Given the description of an element on the screen output the (x, y) to click on. 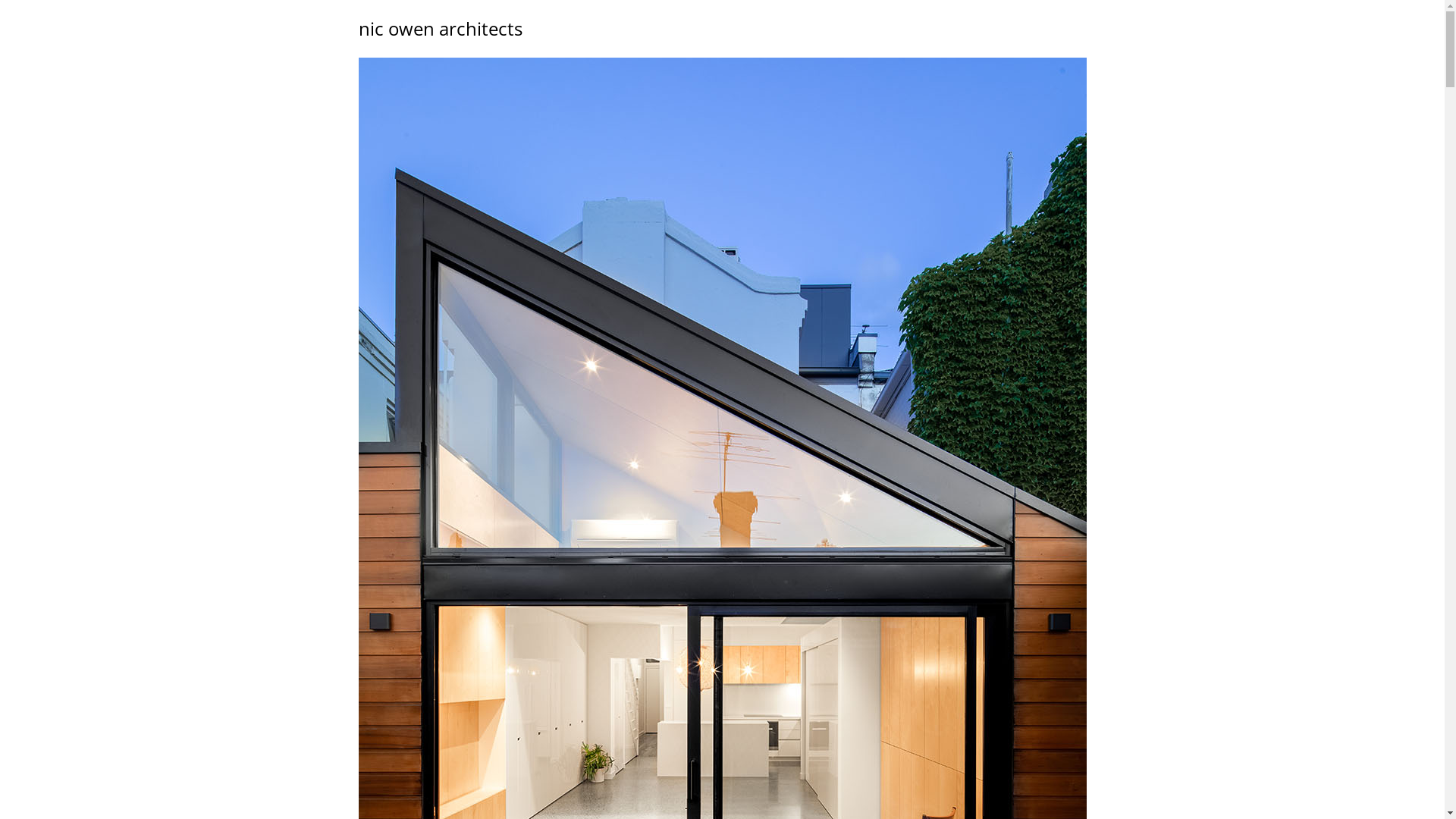
nic owen architects Element type: text (439, 27)
